Given the description of an element on the screen output the (x, y) to click on. 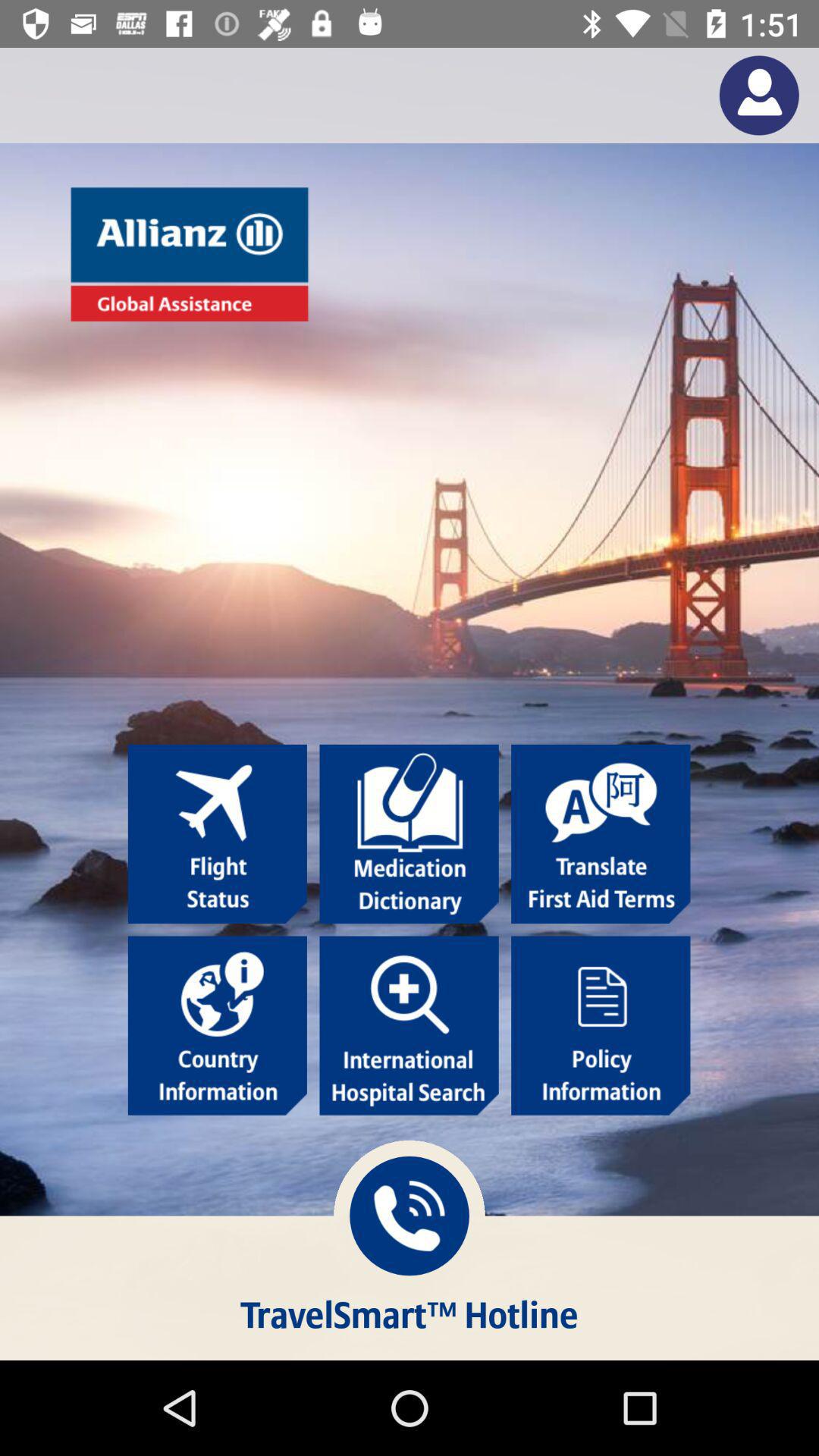
search for international hospitals (408, 1025)
